Given the description of an element on the screen output the (x, y) to click on. 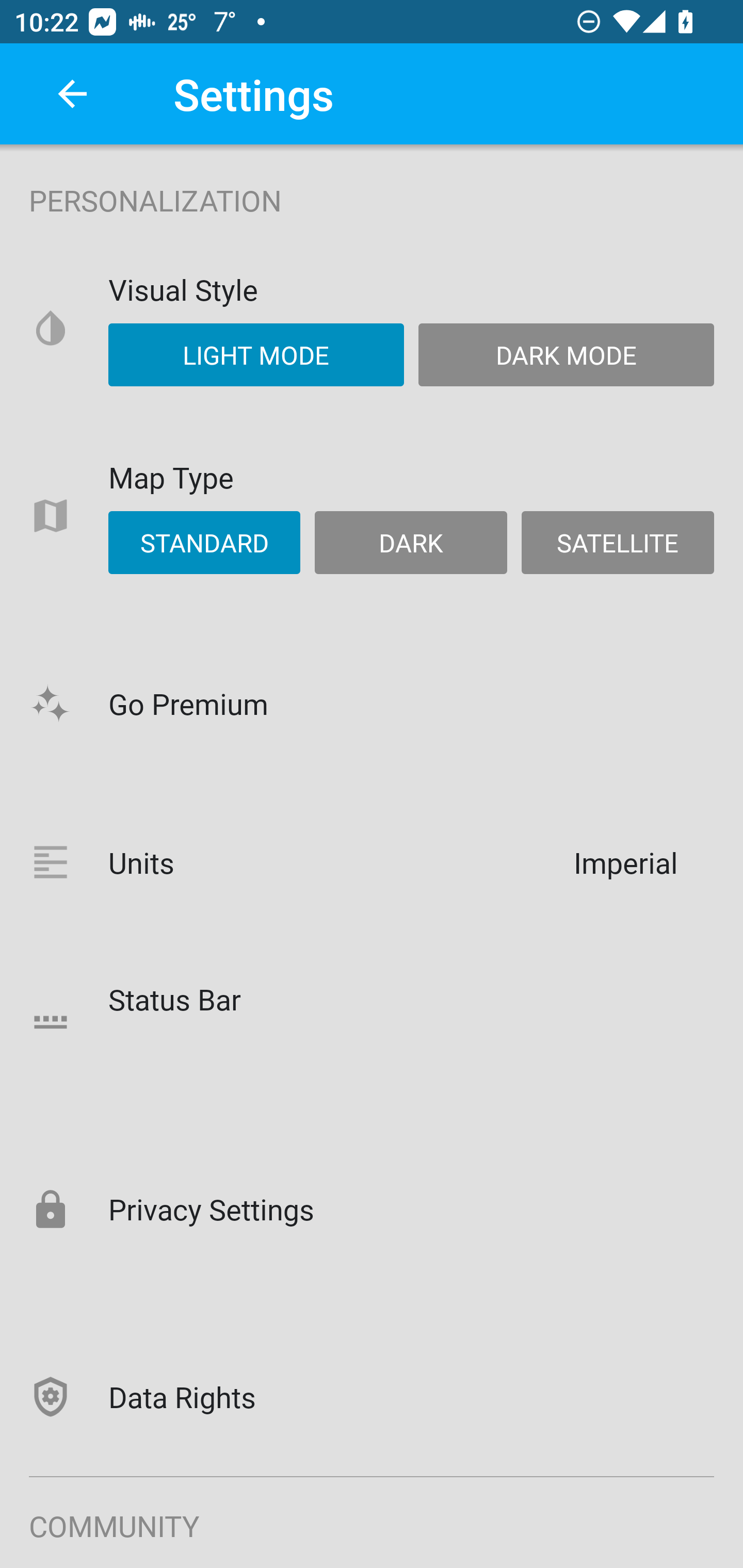
back (71, 93)
LIGHT MODE (256, 354)
DARK MODE (566, 354)
STANDARD (204, 542)
DARK (411, 542)
SATELLITE (617, 542)
Go Premium (371, 703)
Units Imperial (371, 862)
Status Bar (371, 1021)
Privacy Settings (371, 1208)
Data Rights (371, 1396)
